Given the description of an element on the screen output the (x, y) to click on. 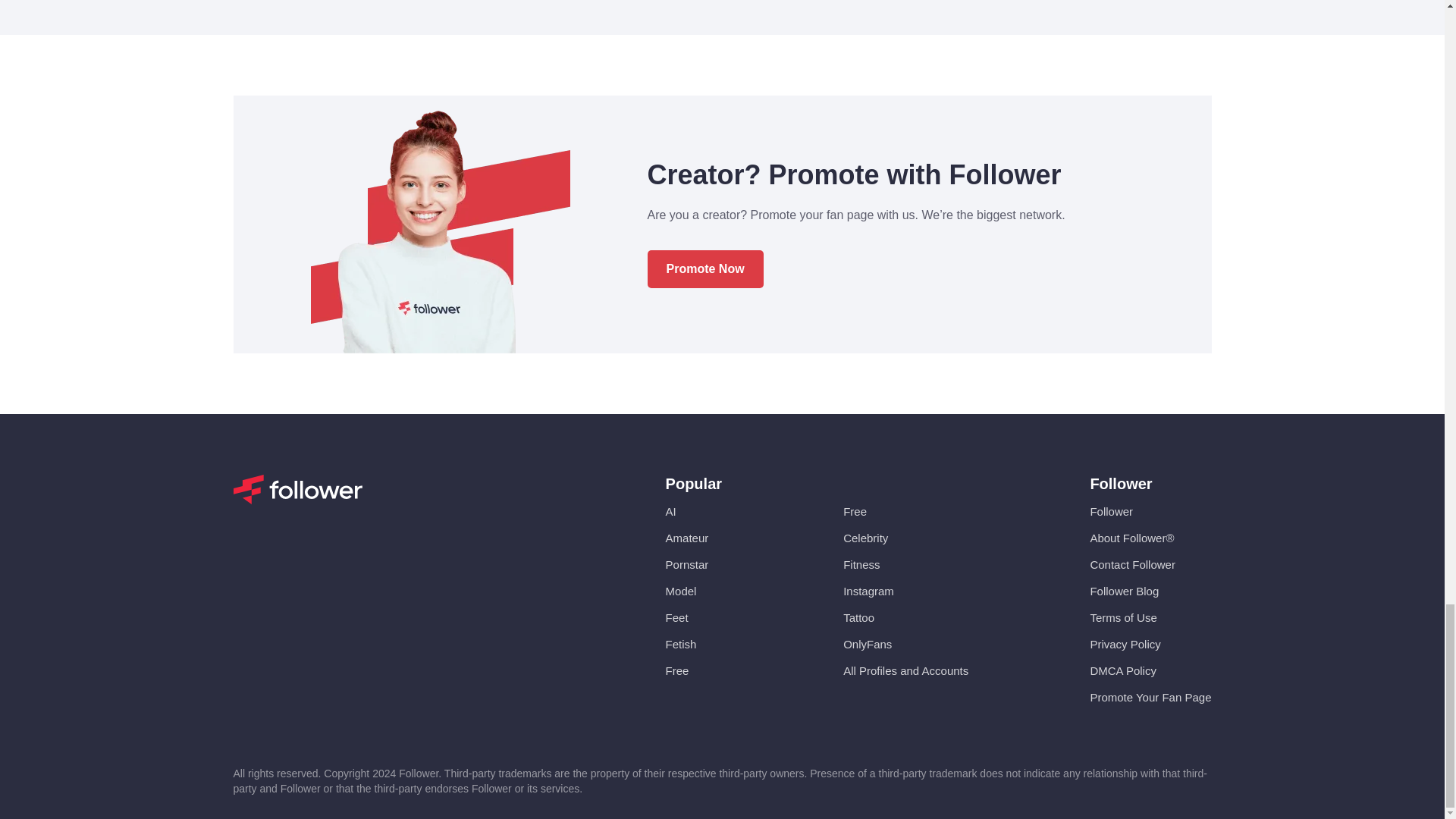
DMCA Policy (1122, 670)
Browse All Fan Pages (905, 670)
